Given the description of an element on the screen output the (x, y) to click on. 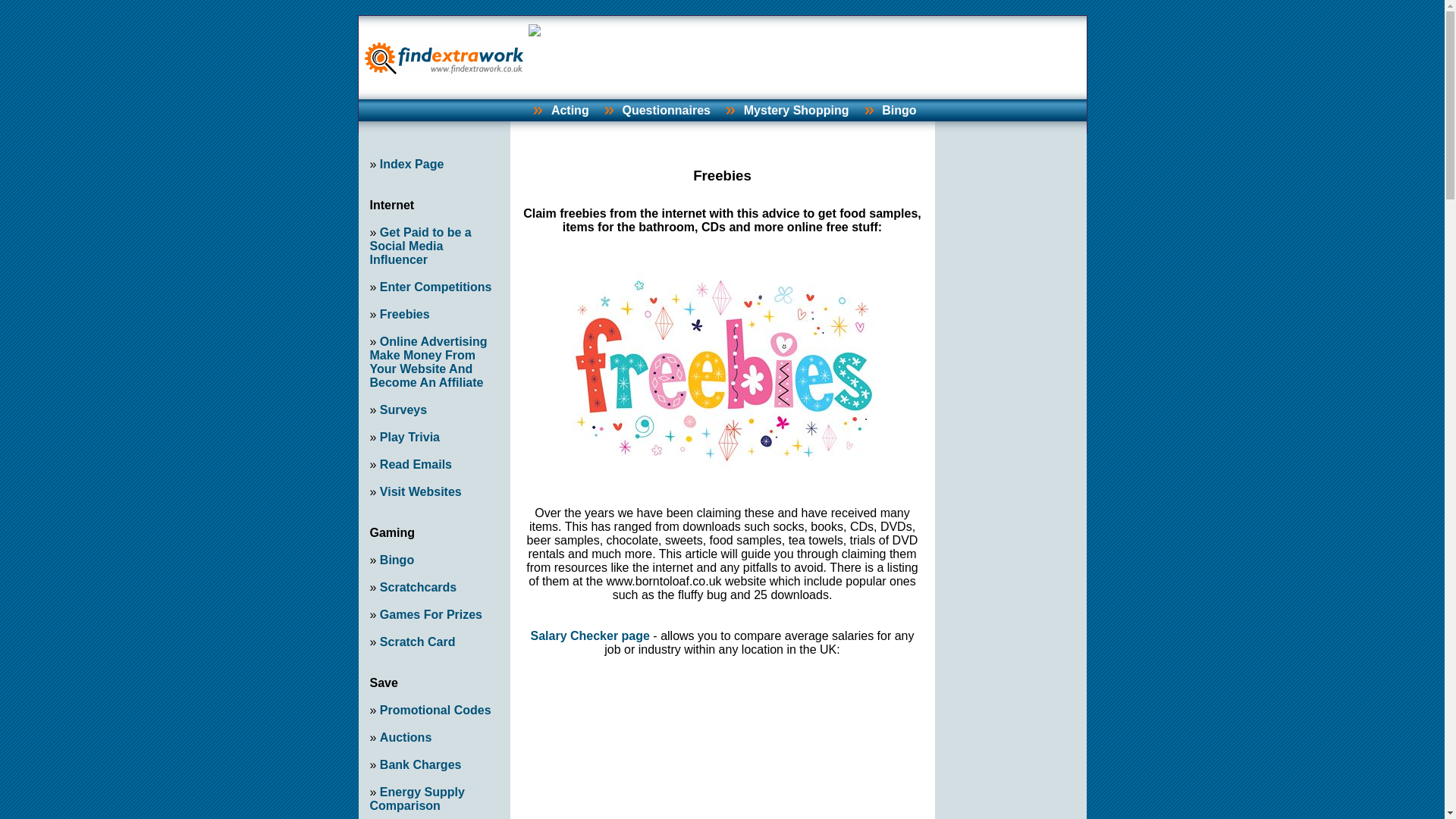
Bingo (898, 110)
Bank Charges (420, 764)
Auctions (405, 737)
Enter Competitions (436, 286)
Mystery Shopping (796, 110)
Acting (570, 110)
Questionnaires (665, 110)
Scratchcards (418, 586)
Get Paid to be a Social Media Influencer (420, 246)
Index Page (412, 164)
